Given the description of an element on the screen output the (x, y) to click on. 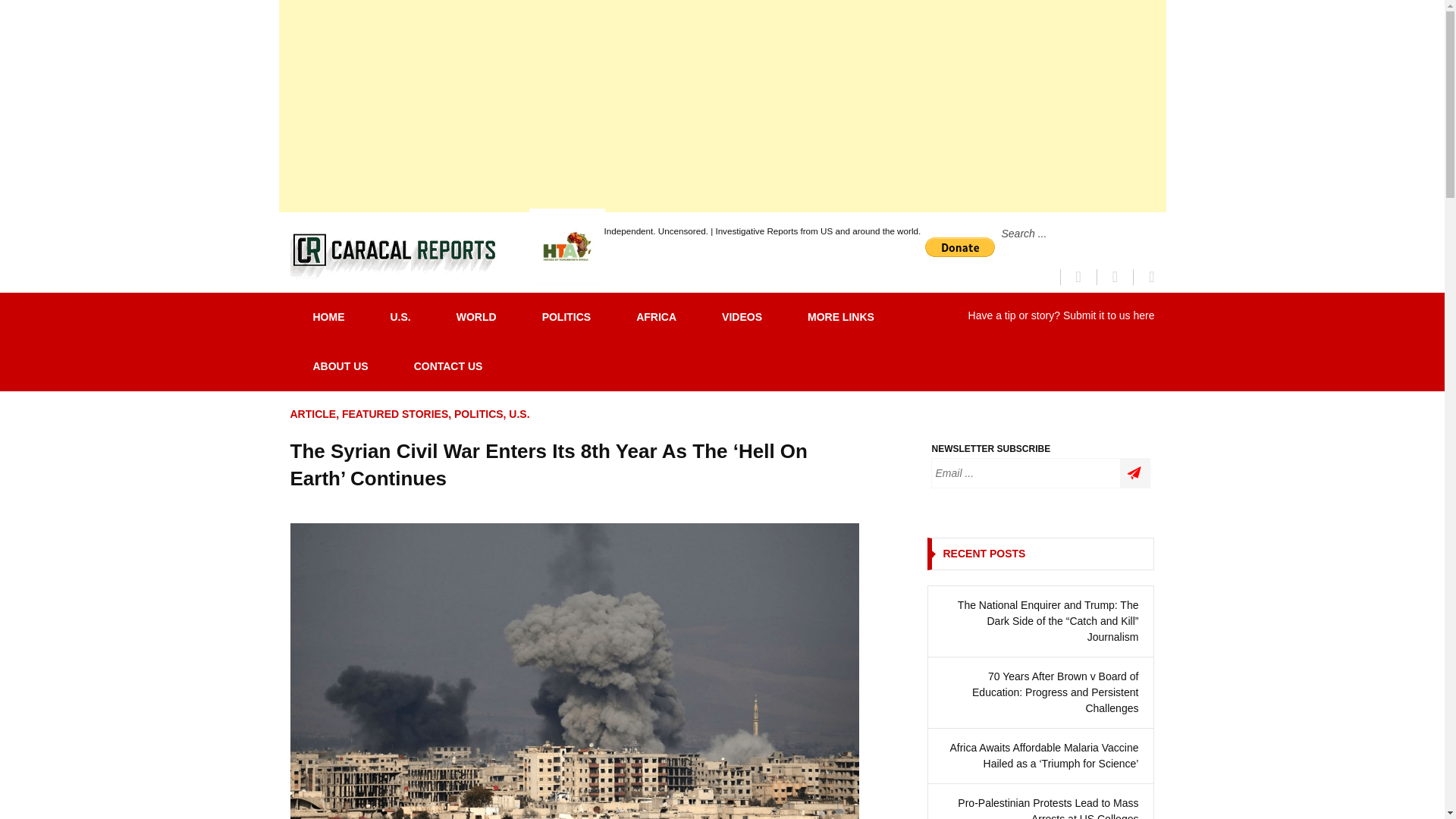
MORE LINKS (840, 317)
ARTICLE (312, 413)
Pro-Palestinian Protests Lead to Mass Arrests at US Colleges (1040, 807)
HOME (327, 317)
ABOUT US (339, 366)
AFRICA (655, 317)
CONTACT US (448, 366)
WORLD (476, 317)
U.S. (399, 317)
POLITICS (566, 317)
U.S. (518, 413)
POLITICS (478, 413)
VIDEOS (741, 317)
